Given the description of an element on the screen output the (x, y) to click on. 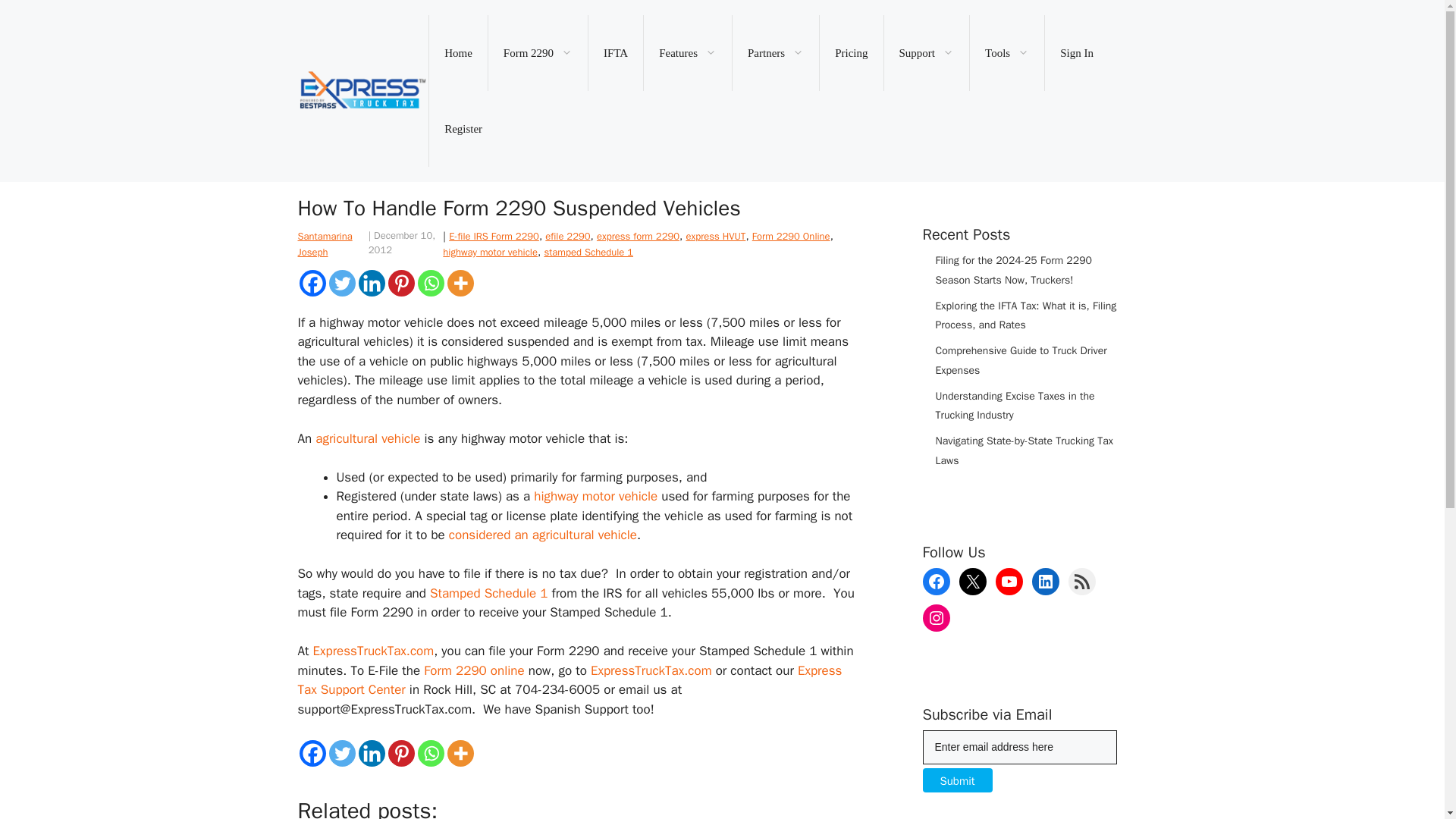
Twitter (342, 753)
Whatsapp (430, 283)
Facebook (311, 283)
Pinterest (401, 283)
Pinterest (401, 753)
Form 2290 (537, 52)
Support (926, 52)
Facebook (311, 753)
Twitter (342, 283)
Enter email address here (1018, 747)
Submit (956, 780)
Features (687, 52)
Linkedin (371, 283)
Linkedin (371, 753)
Partners (775, 52)
